Given the description of an element on the screen output the (x, y) to click on. 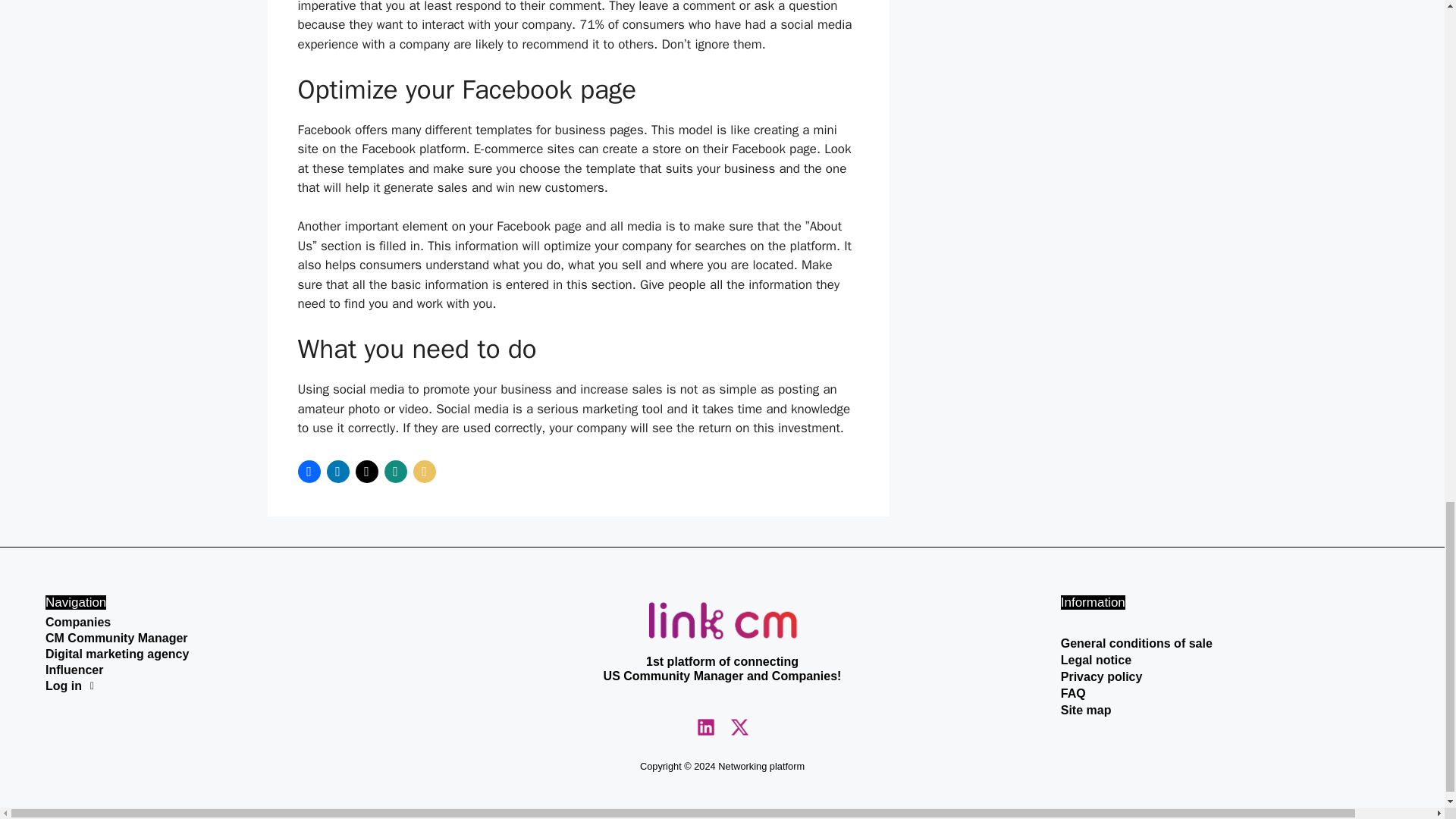
Log in (214, 686)
Companies (214, 622)
Digital marketing agency (214, 654)
Legal notice (1230, 660)
General conditions of sale (1230, 643)
CM Community Manager (214, 638)
Influencer (214, 670)
FAQ (1230, 693)
Privacy policy (1230, 677)
Site map (1230, 710)
